Given the description of an element on the screen output the (x, y) to click on. 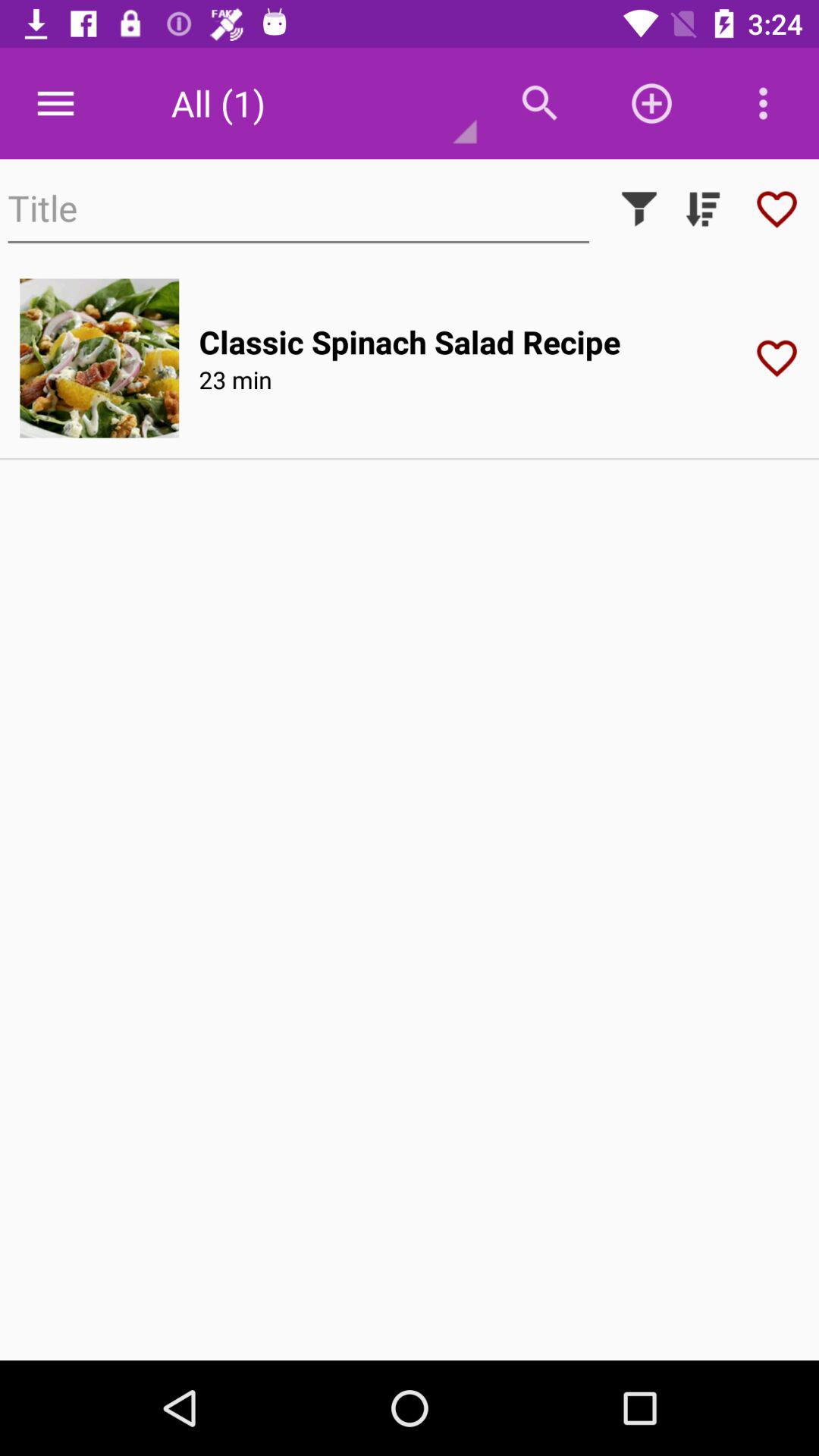
swipe until the classic spinach salad (409, 341)
